Given the description of an element on the screen output the (x, y) to click on. 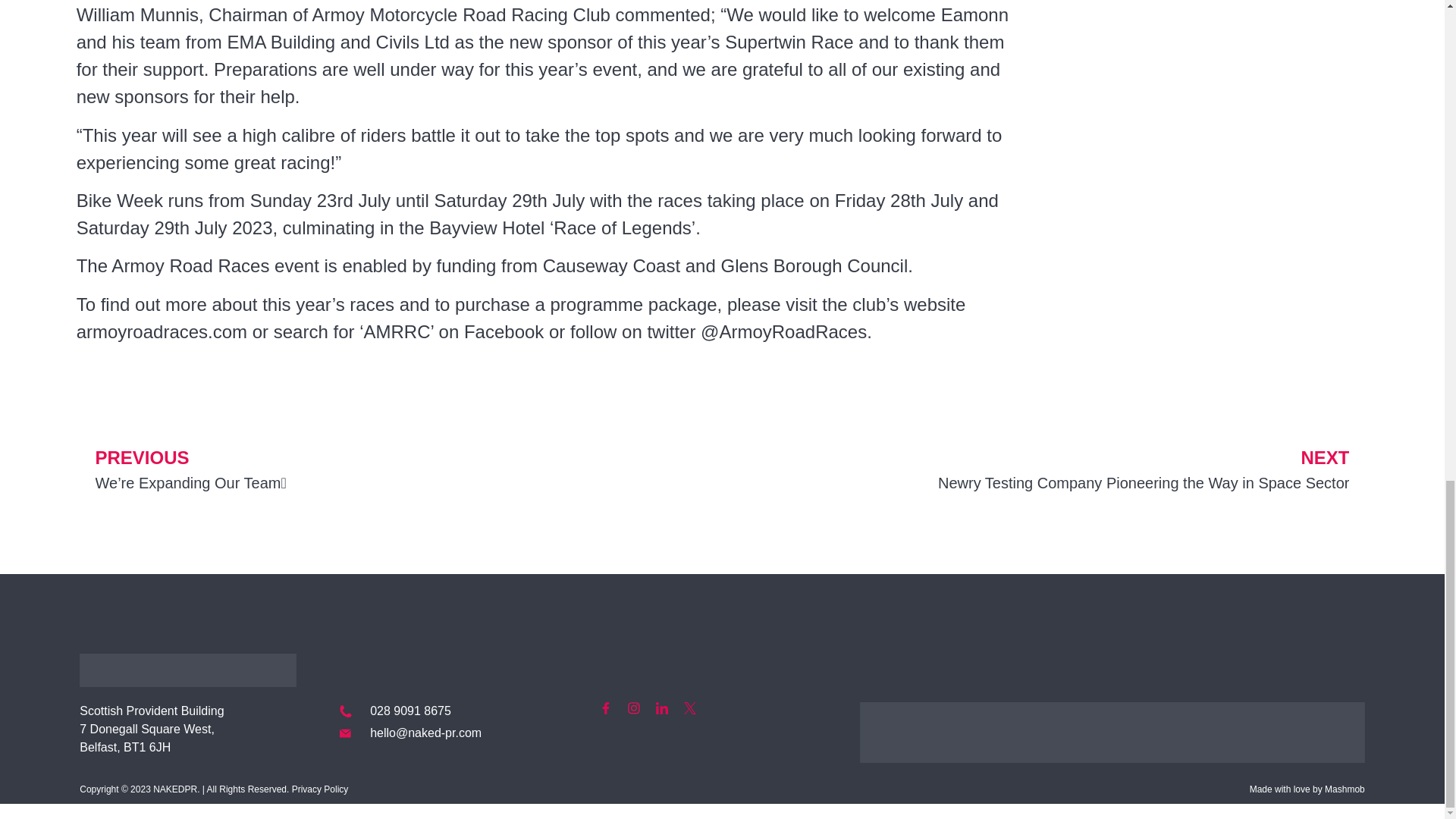
Mashmob (1344, 788)
Privacy Policy (320, 788)
